Given the description of an element on the screen output the (x, y) to click on. 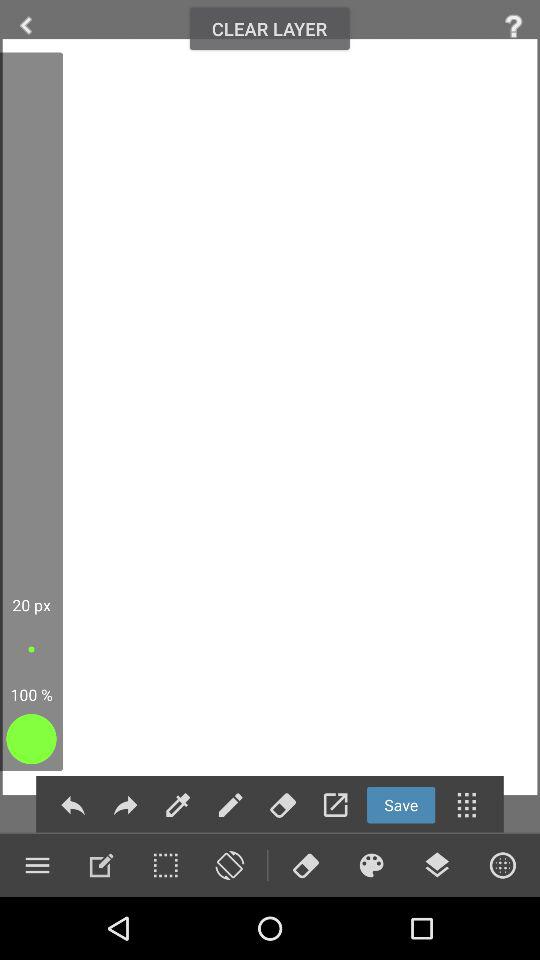
go to color option (371, 865)
